Given the description of an element on the screen output the (x, y) to click on. 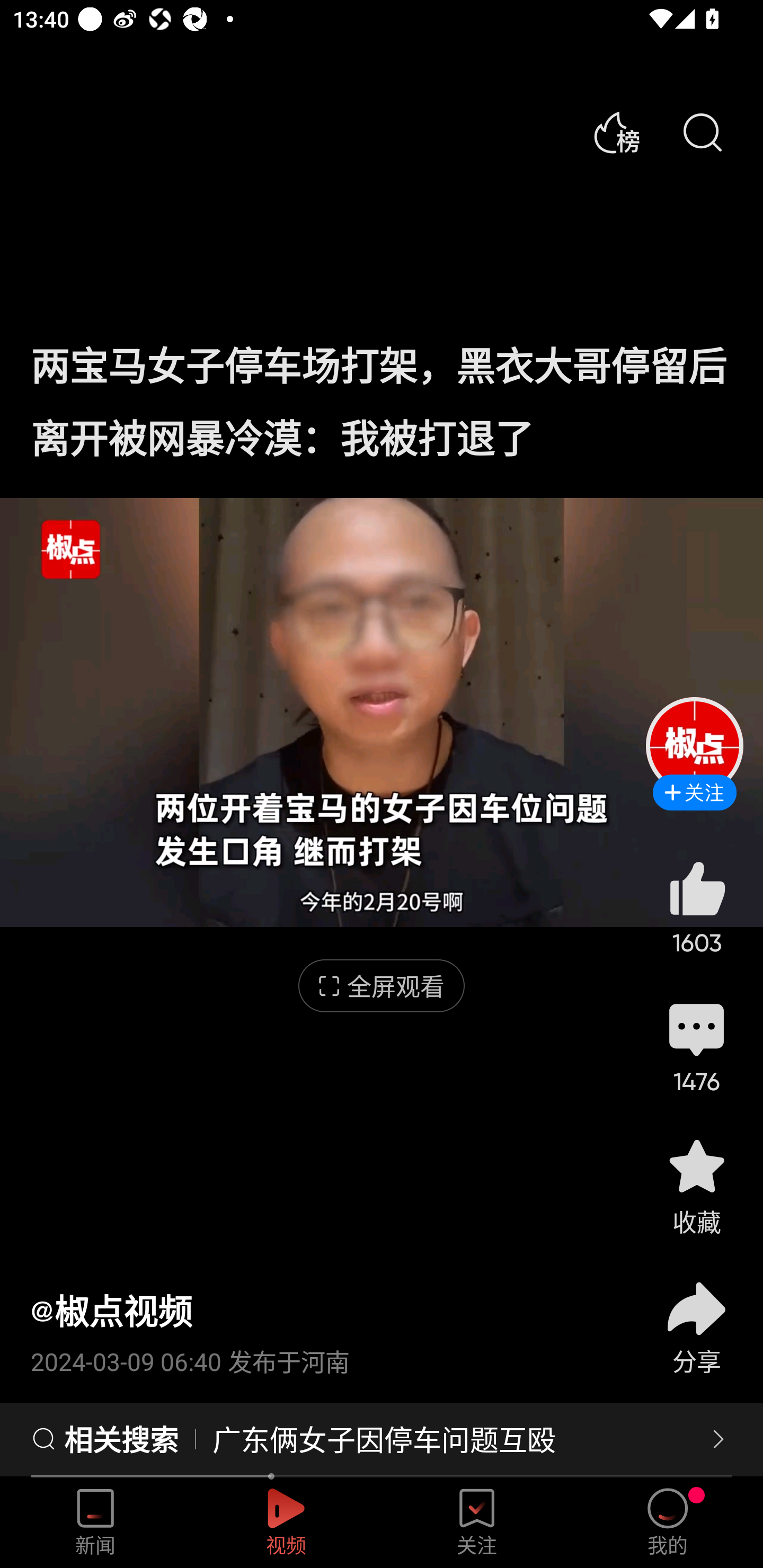
 热榜 (616, 133)
 搜索 (701, 133)
赞 1603 (696, 906)
全屏观看 (381, 985)
评论  1476 (696, 1045)
收藏 (696, 1184)
分享  分享 (696, 1315)
椒点视频 (111, 1310)
2024-03-09 06:40 发布于河南 (321, 1355)
相关搜索 广东俩女子因停车问题互殴  (381, 1440)
